Given the description of an element on the screen output the (x, y) to click on. 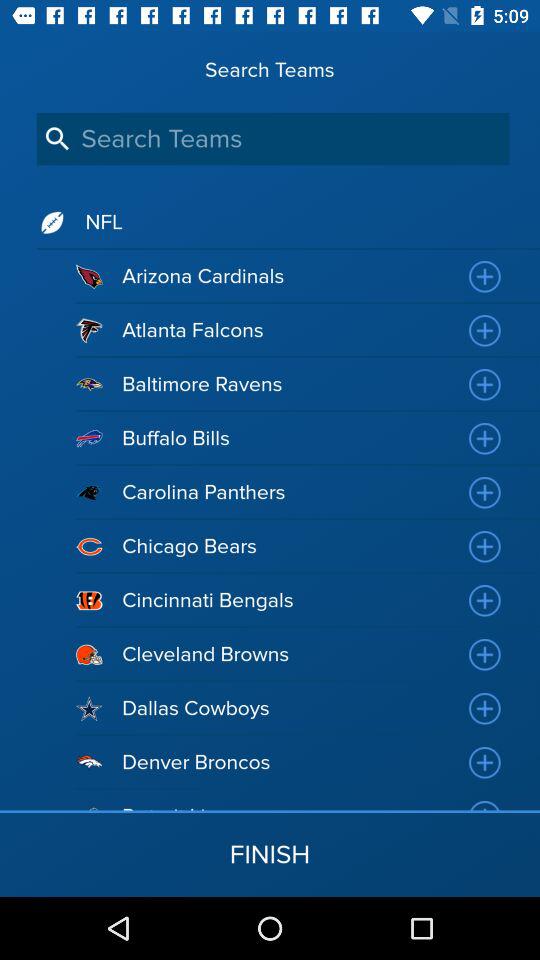
this will let you search for which team you want to look at (272, 138)
